Given the description of an element on the screen output the (x, y) to click on. 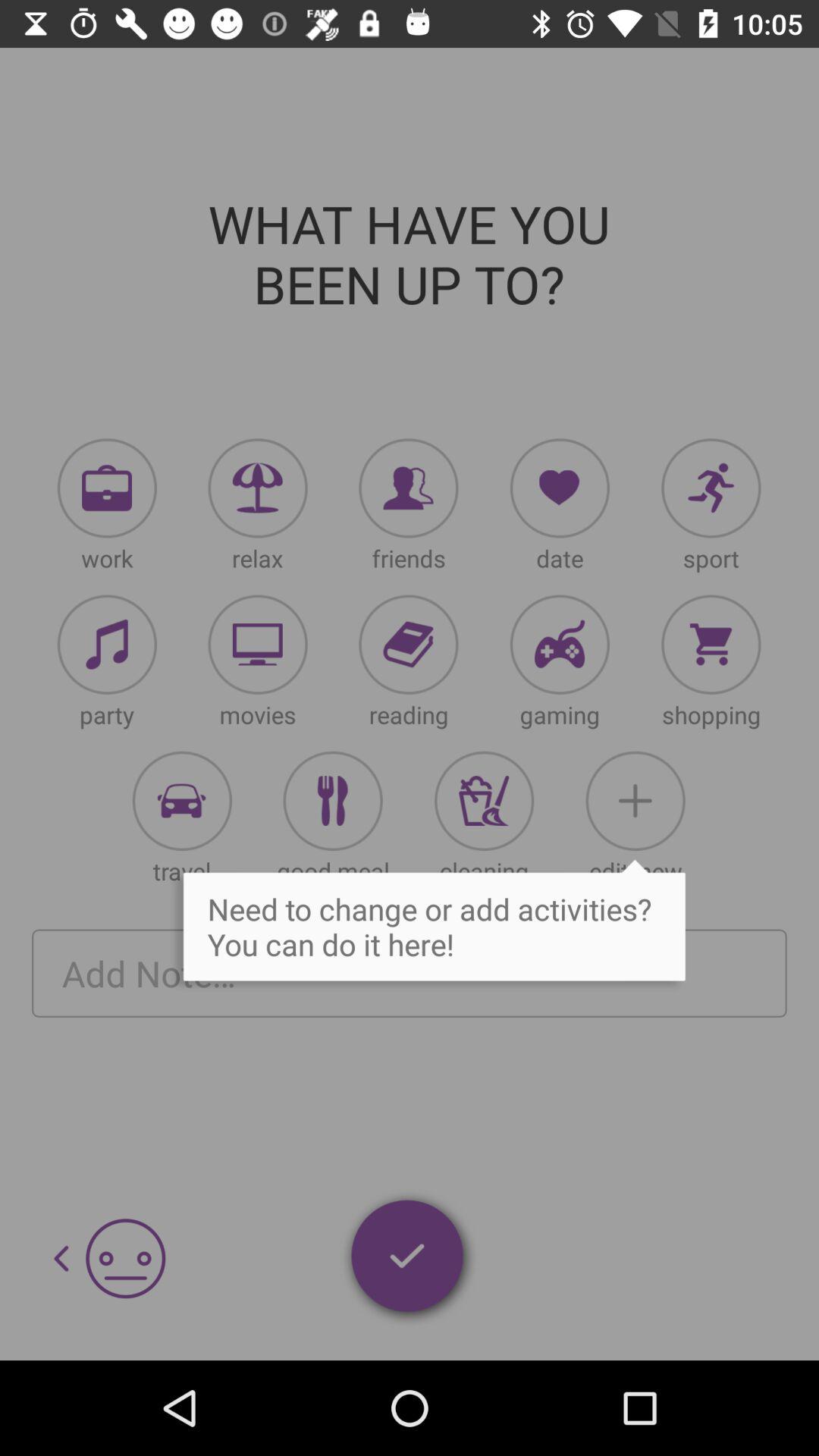
choose work (106, 488)
